Given the description of an element on the screen output the (x, y) to click on. 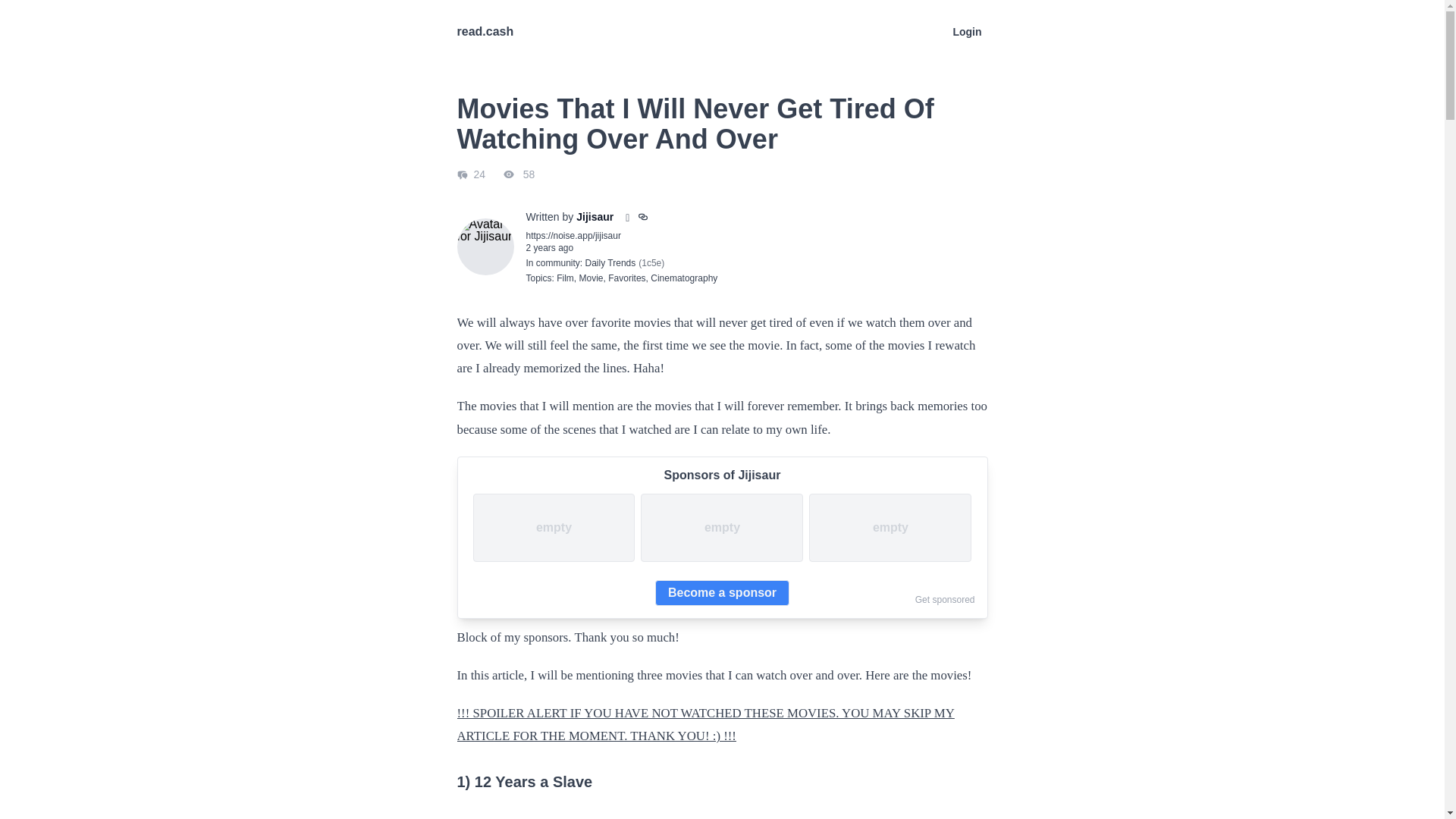
Favorites (626, 277)
Get sponsored (945, 599)
Cinematography (683, 277)
community (557, 262)
Film (564, 277)
Login (966, 31)
Number of people who saw the article or submission (509, 174)
Jijisaur (594, 216)
read.cash (485, 31)
Movie (591, 277)
